Given the description of an element on the screen output the (x, y) to click on. 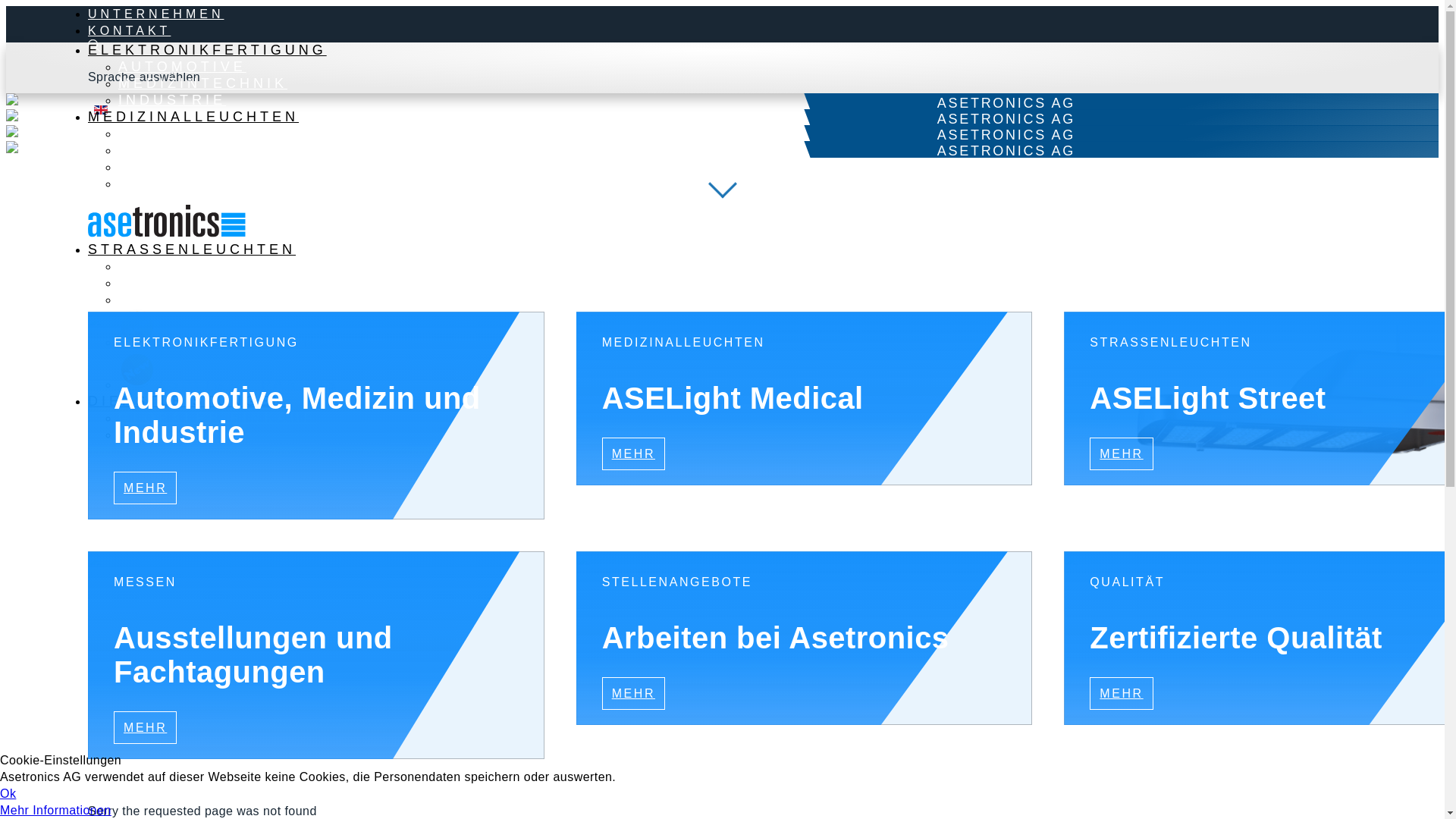
ASELIGHT 50 Element type: text (182, 183)
ASELIGHT 70 Element type: text (182, 166)
ASELIGHT MAGNUS Element type: text (231, 341)
STRASSENLEUCHTEN Element type: text (191, 249)
MEHR Element type: text (633, 693)
Automotive, Medizin und Industrie Element type: text (341, 438)
ASELIGHT STREET 60 Element type: text (223, 282)
UNTERNEHMEN Element type: text (155, 13)
Mehr Informationen Element type: text (55, 809)
Ausstellungen und Fachtagungen Element type: text (341, 677)
ASELIGHT CABLE 120 Element type: text (223, 299)
MEHR Element type: text (1120, 453)
INDUSTRIE Element type: text (171, 99)
MEDIZINALLEUCHTEN Element type: text (192, 116)
LOGISTIK Element type: text (164, 434)
ASELIGHT STREET 120 Element type: text (229, 265)
MEDIZINTECHNIK Element type: text (202, 83)
MEHR Element type: text (144, 487)
ASELIGHT PARVUS Element type: text (228, 384)
KONTAKT Element type: text (128, 30)
ELEKTRONIKFERTIGUNG Element type: text (206, 49)
MEHR Element type: text (144, 727)
DIENSTLEISTUNGEN Element type: text (186, 400)
MEHR Element type: text (1120, 693)
ASELIGHT 120 Element type: text (187, 149)
ASELIGHT 160 Element type: text (187, 133)
ASELight Medical Element type: text (830, 421)
English (United Kingdom) Element type: hover (100, 109)
AUTOMOTIVE Element type: text (182, 66)
GLOBALER EINKAUF Element type: text (216, 417)
Arbeiten bei Asetronics Element type: text (830, 660)
MEHR Element type: text (633, 453)
Ok Element type: text (7, 793)
